Given the description of an element on the screen output the (x, y) to click on. 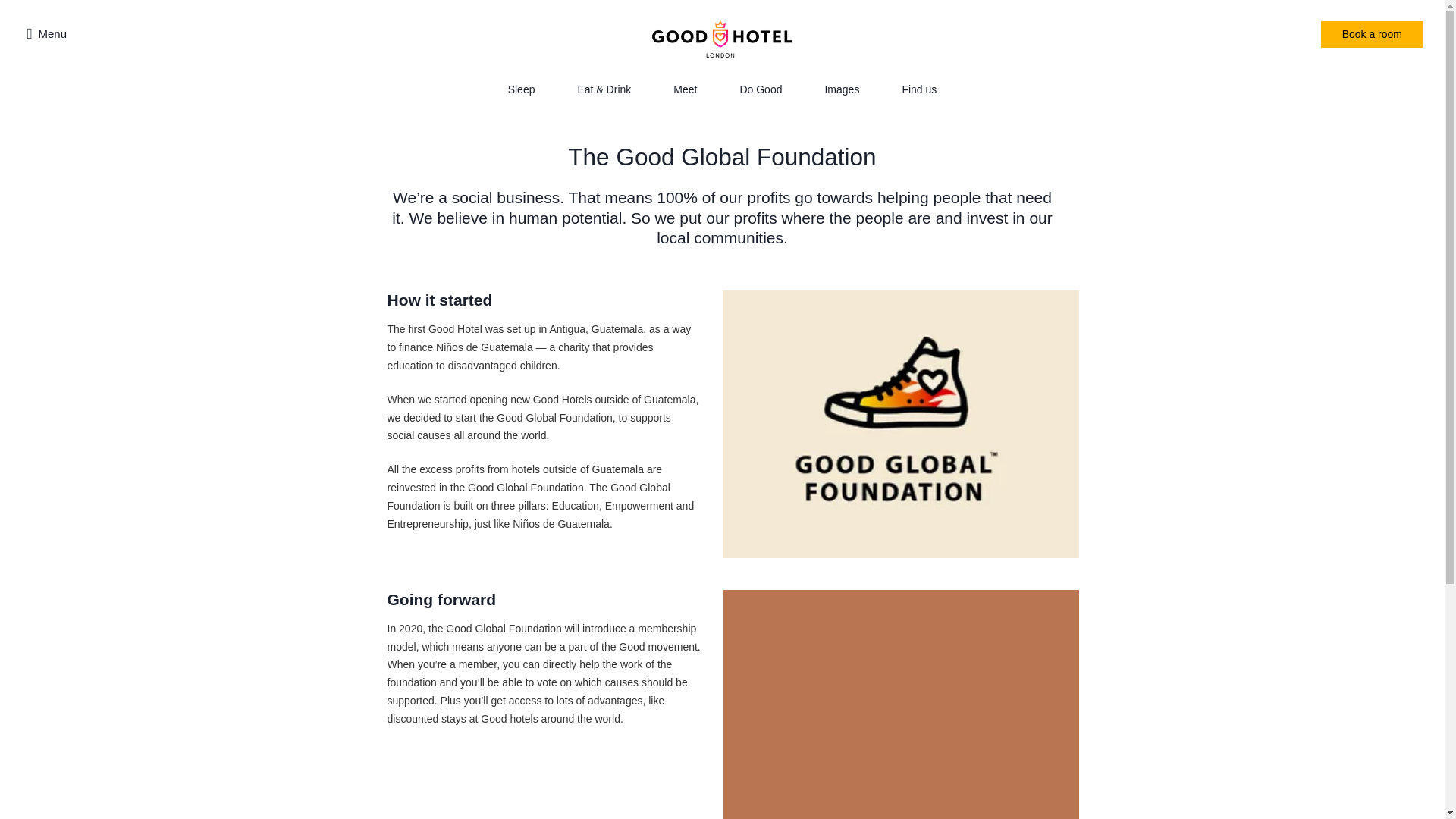
Menu (46, 33)
Do Good (760, 89)
London (722, 34)
Book a room (1371, 34)
Meet (684, 89)
Find us (918, 89)
Images (841, 89)
Sleep (521, 89)
